Given the description of an element on the screen output the (x, y) to click on. 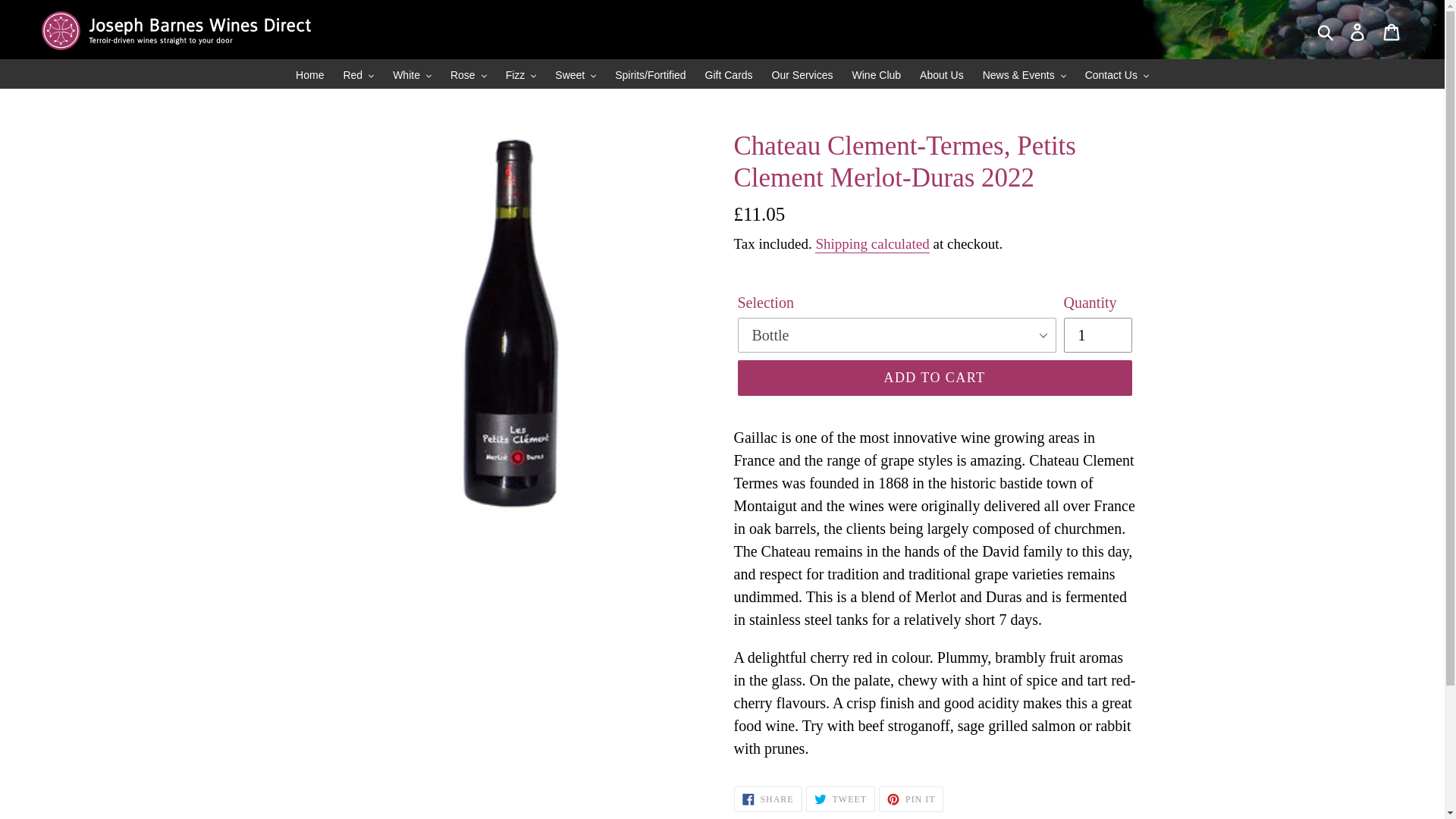
Cart (1392, 30)
Submit (1326, 30)
1 (1096, 334)
Log in (1357, 30)
